Given the description of an element on the screen output the (x, y) to click on. 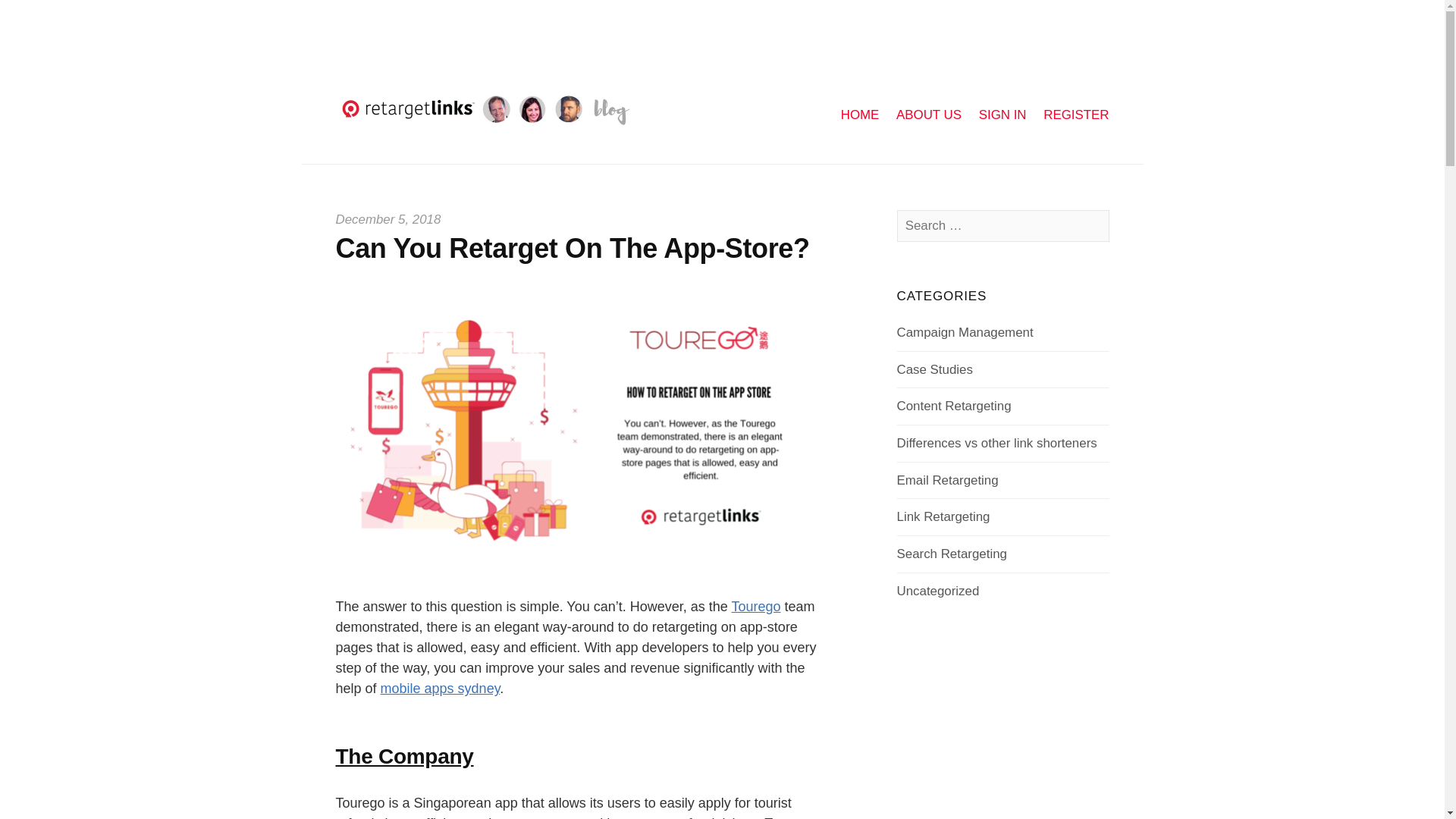
SIGN IN (1002, 114)
Case Studies (934, 369)
HOME (860, 114)
REGISTER (1075, 114)
Campaign Management (964, 332)
Uncategorized (937, 590)
ABOUT US (928, 114)
mobile apps sydney (440, 688)
Email Retargeting (947, 480)
Link Retargeting (943, 516)
December 5, 2018 (387, 219)
Content Retargeting (953, 405)
Tourego (755, 606)
Search (42, 18)
